Given the description of an element on the screen output the (x, y) to click on. 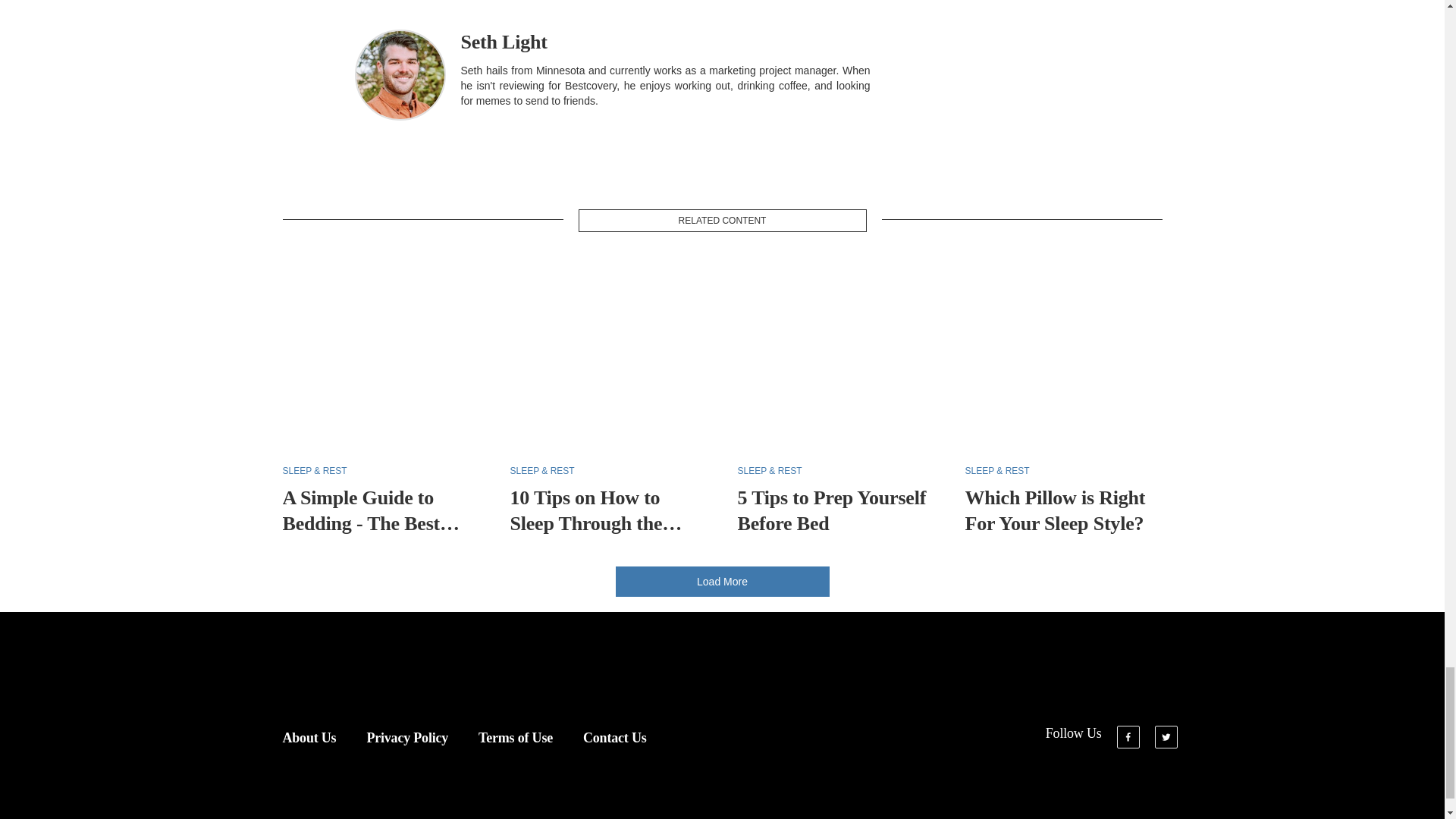
Seth Light (504, 42)
A Simple Guide to Bedding - The Best Bedding Types Explained (371, 535)
10 Tips on How to Sleep Through the Night (595, 523)
